Given the description of an element on the screen output the (x, y) to click on. 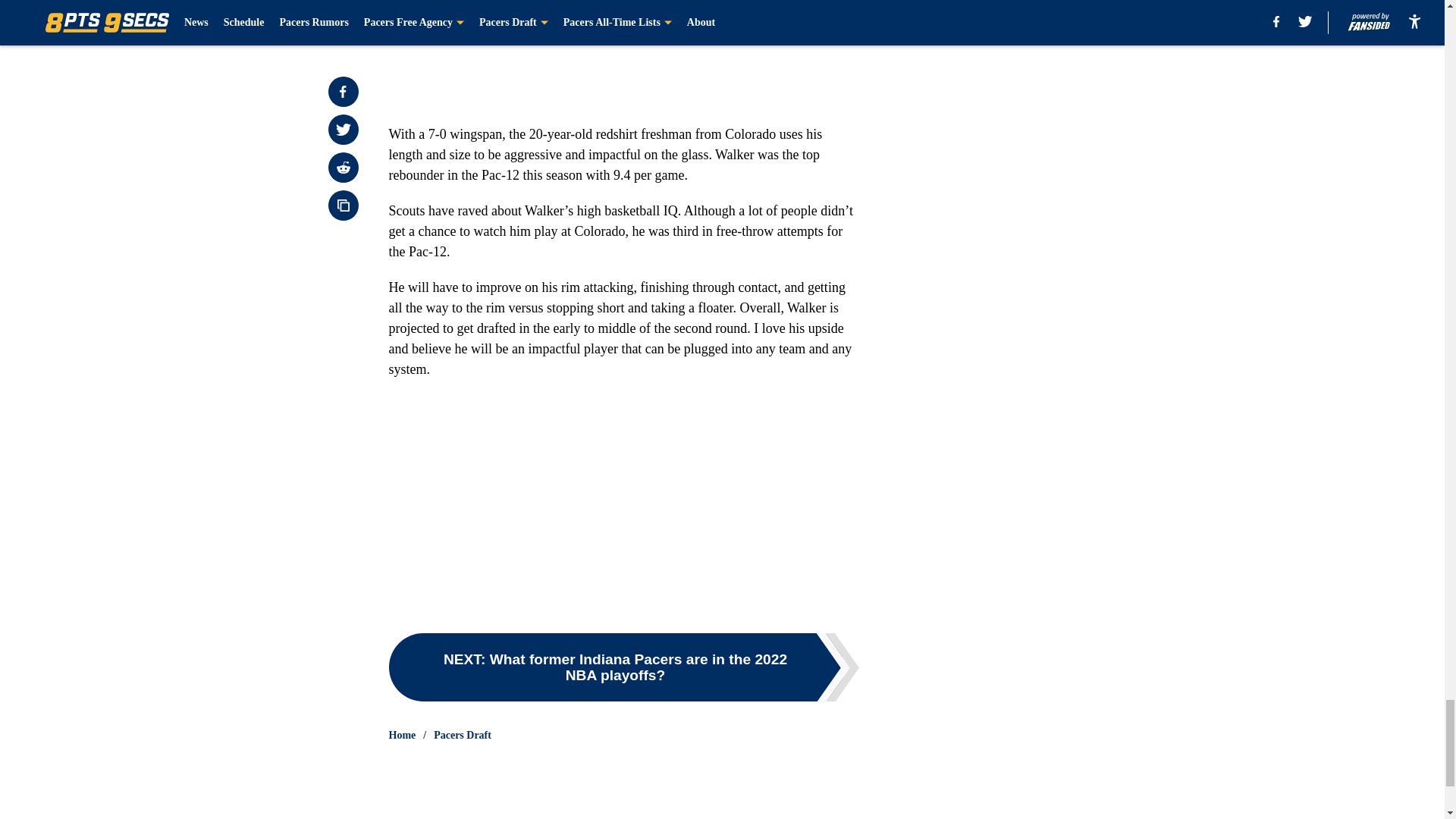
Pacers Draft (462, 735)
Home (401, 735)
